Given the description of an element on the screen output the (x, y) to click on. 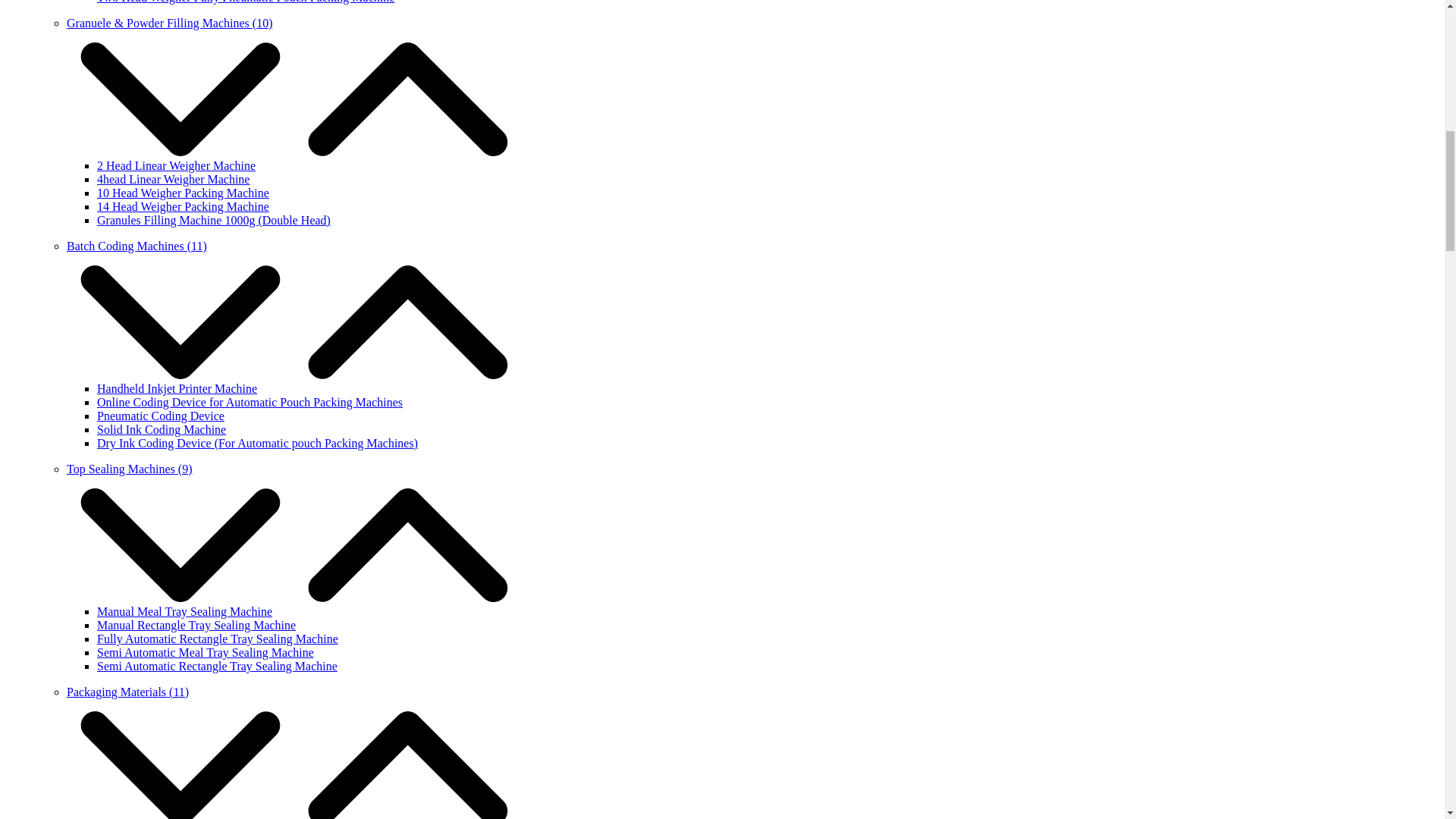
Online Coding Device for Automatic Pouch Packing Machines (250, 401)
Solid Ink Coding Machine (161, 429)
Fully Automatic Rectangle Tray Sealing Machine (217, 638)
Two Head Weigher Fully Pneumatic Pouch Packing Machine (245, 2)
Manual Meal Tray Sealing Machine (184, 611)
10 Head Weigher Packing Machine (183, 192)
Semi Automatic Rectangle Tray Sealing Machine (217, 666)
4head Linear Weigher Machine (172, 178)
Pneumatic Coding Device (160, 415)
Manual Rectangle Tray Sealing Machine (196, 625)
2 Head Linear Weigher Machine (176, 164)
14 Head Weigher Packing Machine (183, 205)
Semi Automatic Meal Tray Sealing Machine (205, 652)
Handheld Inkjet Printer Machine (177, 388)
